Given the description of an element on the screen output the (x, y) to click on. 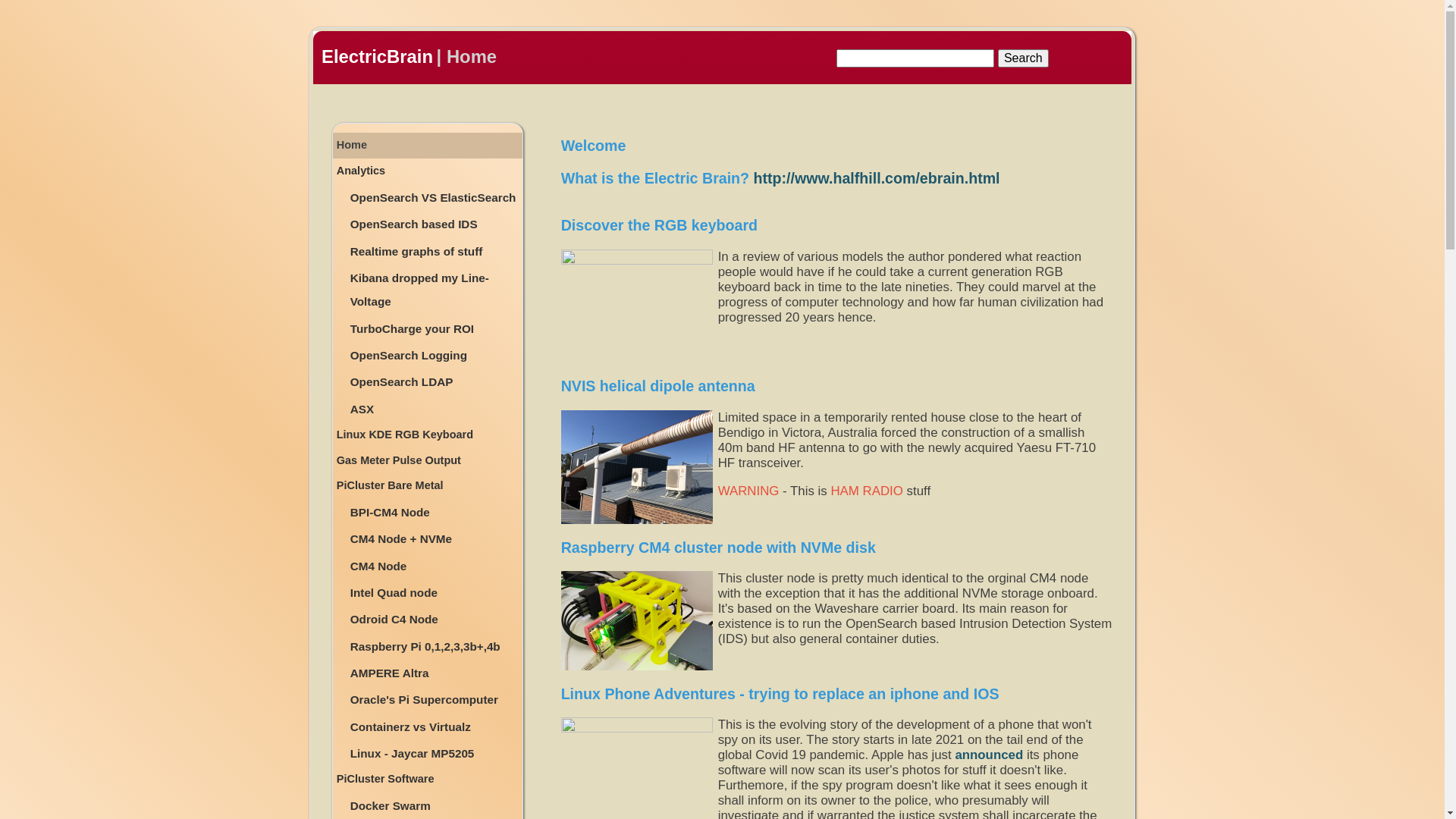
Oracle's Pi Supercomputer Element type: text (434, 699)
Discover the RGB keyboard Element type: text (659, 224)
Linux Phone Adventures - trying to replace an iphone and IOS Element type: text (780, 693)
Linux - Jaycar MP5205 Element type: text (434, 753)
Search Element type: text (1022, 58)
Realtime graphs of stuff Element type: text (434, 251)
AMPERE Altra Element type: text (434, 672)
Home Element type: text (427, 145)
BPI-CM4 Node Element type: text (434, 511)
http://www.halfhill.com/ebrain.html Element type: text (876, 177)
Raspberry CM4 cluster node with NVMe disk Element type: text (718, 547)
Kibana dropped my Line-Voltage Element type: text (434, 289)
TurboCharge your ROI Element type: text (434, 328)
announced Element type: text (988, 754)
Analytics Element type: text (427, 171)
OpenSearch based IDS Element type: text (434, 223)
ASX Element type: text (434, 408)
Containerz vs Virtualz Element type: text (434, 726)
Raspberry Pi 0,1,2,3,3b+,4b Element type: text (434, 646)
PiCluster Bare Metal Element type: text (427, 485)
Linux KDE RGB Keyboard Element type: text (427, 435)
ElectricBrain Element type: text (377, 56)
CM4 Node Element type: text (434, 565)
OpenSearch Logging Element type: text (434, 355)
Odroid C4 Node Element type: text (434, 618)
Gas Meter Pulse Output Element type: text (427, 460)
OpenSearch LDAP Element type: text (434, 381)
Intel Quad node Element type: text (434, 592)
CM4 Node + NVMe Element type: text (434, 538)
OpenSearch VS ElasticSearch Element type: text (434, 197)
PiCluster Software Element type: text (427, 779)
NVIS helical dipole antenna Element type: text (658, 385)
